Given the description of an element on the screen output the (x, y) to click on. 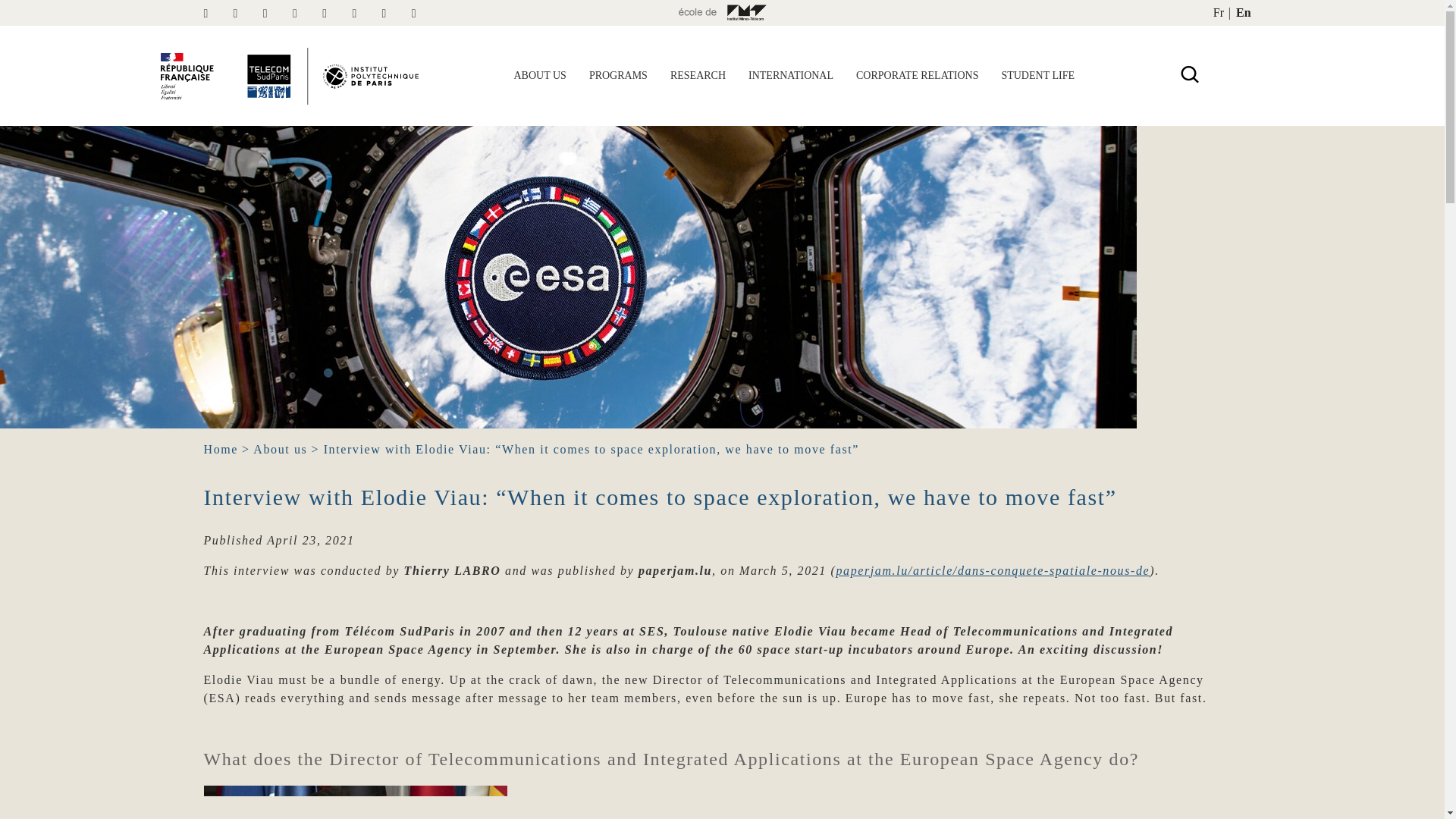
PROGRAMS (618, 75)
English version (1243, 11)
ABOUT US (539, 75)
En (1243, 11)
Home (220, 449)
